Given the description of an element on the screen output the (x, y) to click on. 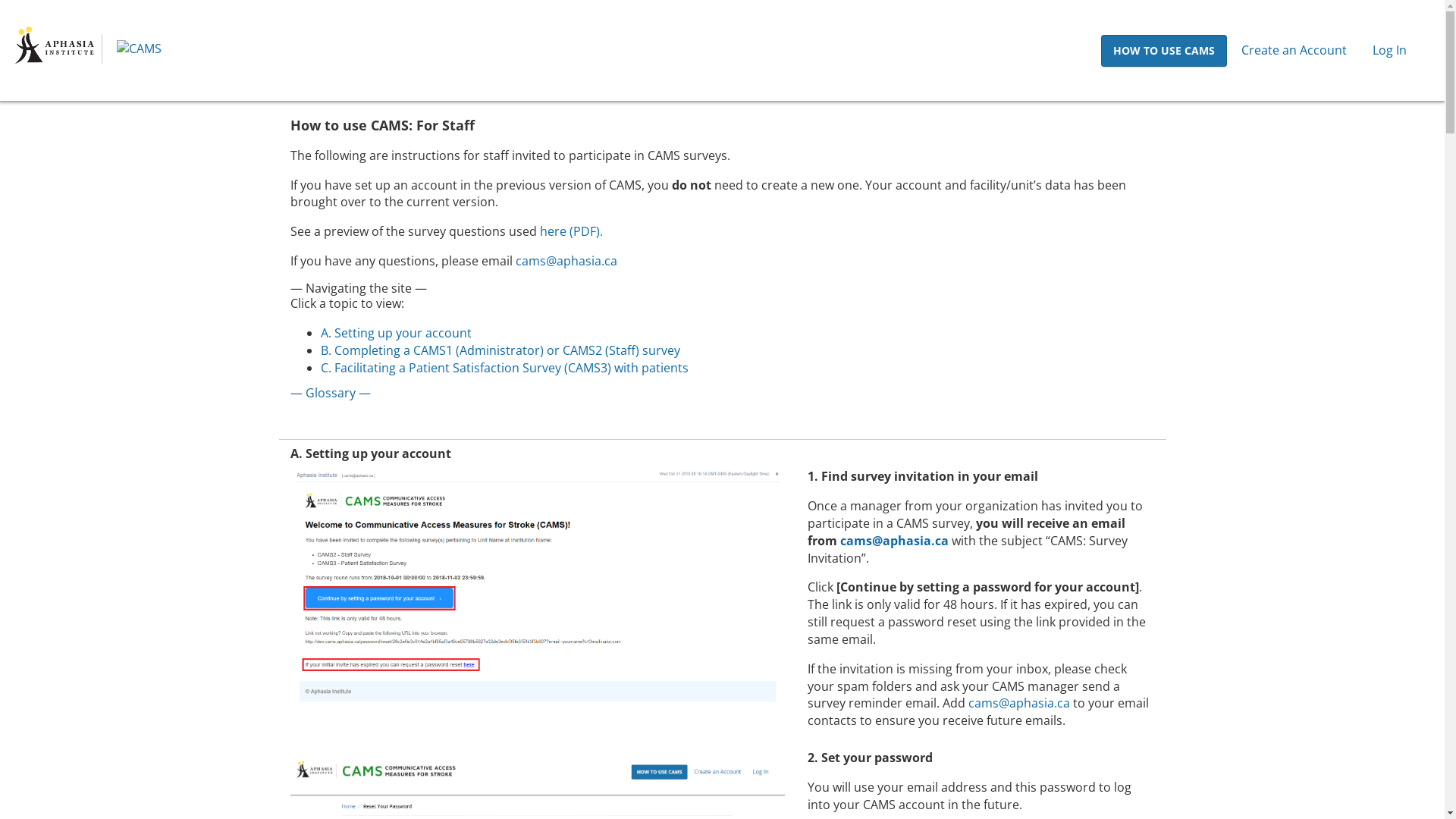
A. Setting up your account Element type: text (395, 332)
cams@aphasia.ca Element type: text (894, 540)
cams@aphasia.ca Element type: text (566, 260)
Log In Element type: text (1389, 50)
Create an Account Element type: text (1294, 50)
HOW TO USE CAMS Element type: text (1163, 50)
here (PDF). Element type: text (570, 230)
cams@aphasia.ca Element type: text (1019, 702)
